Given the description of an element on the screen output the (x, y) to click on. 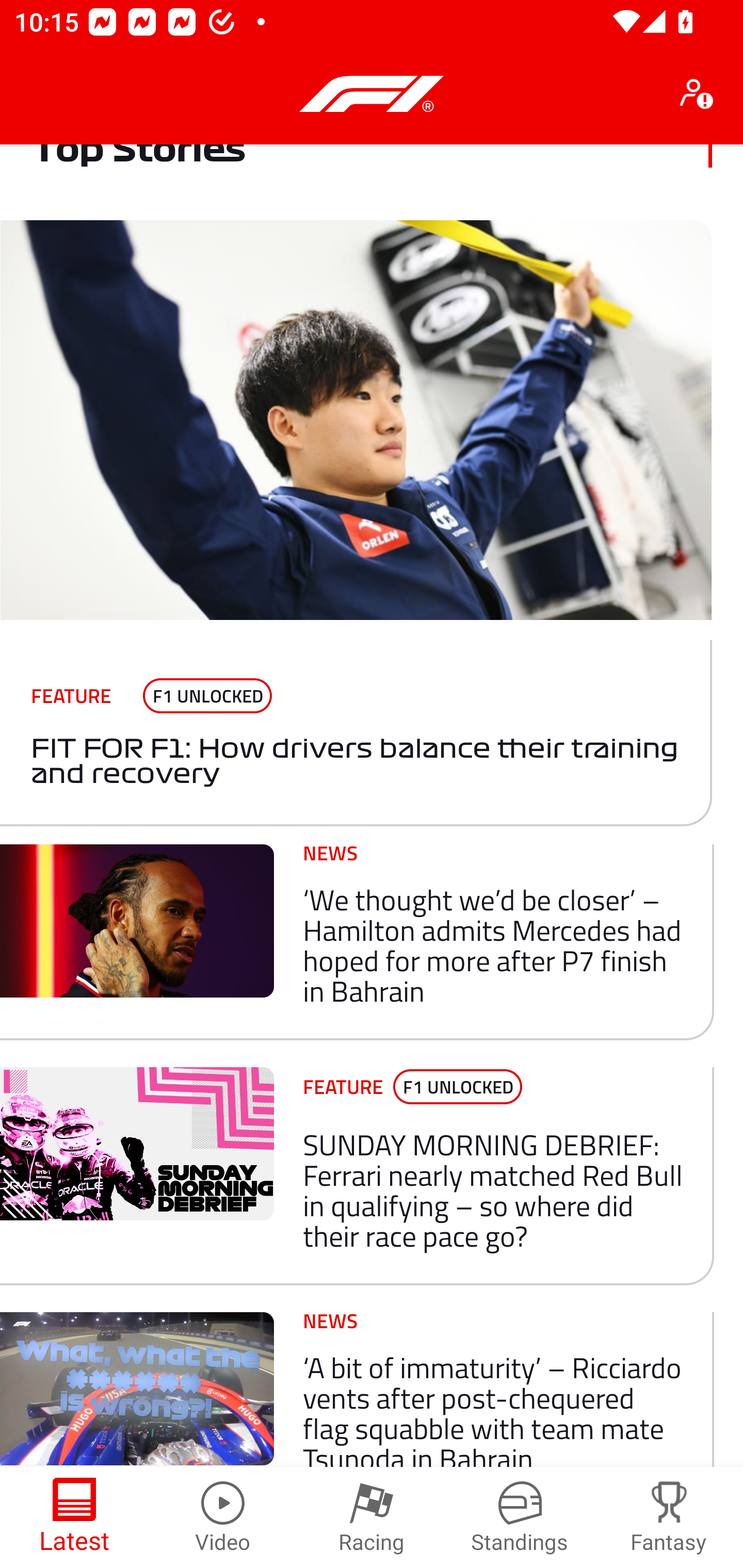
Video (222, 1517)
Racing (371, 1517)
Standings (519, 1517)
Fantasy (668, 1517)
